Given the description of an element on the screen output the (x, y) to click on. 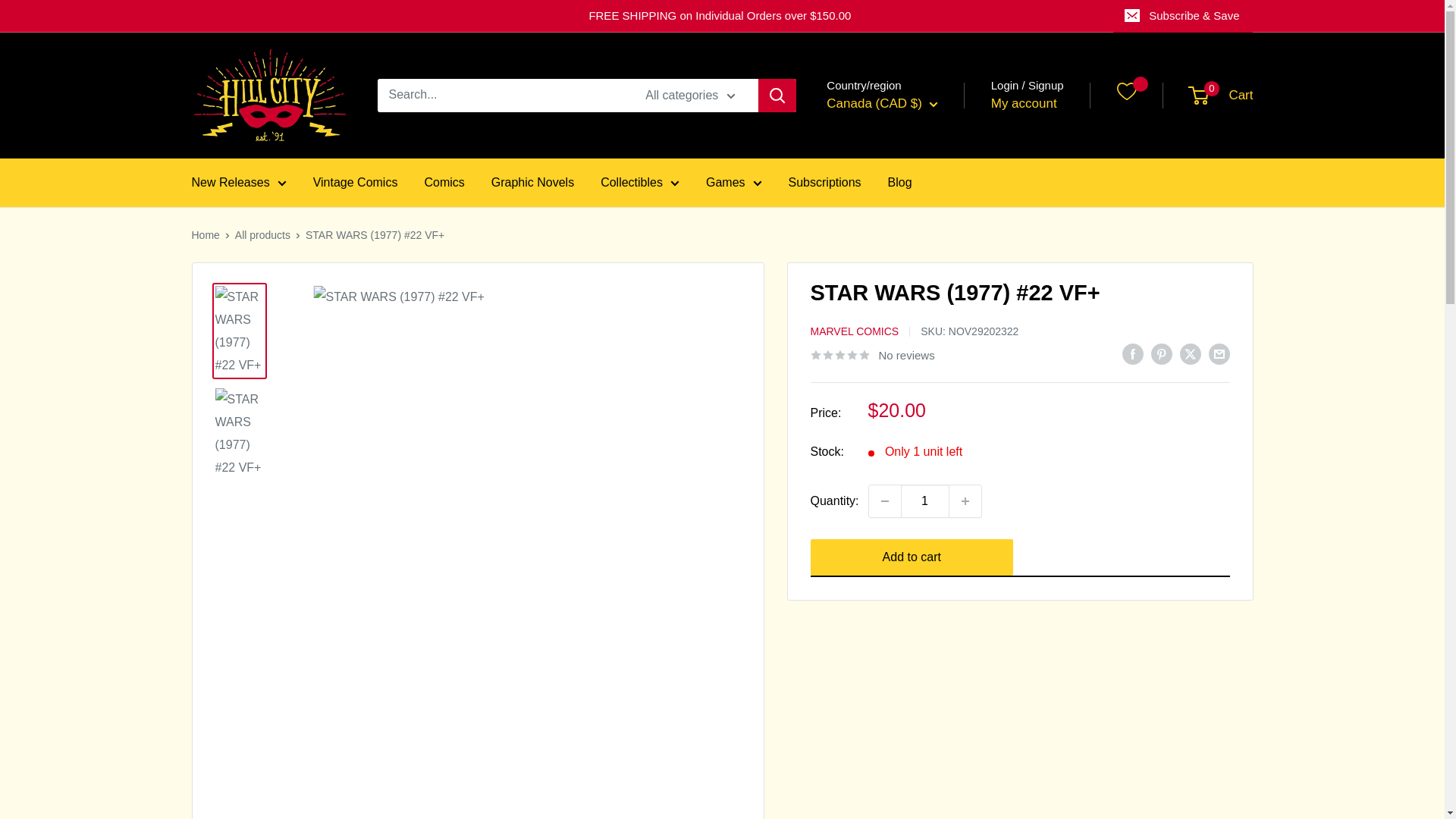
Decrease quantity by 1 (885, 500)
Hill City Comics (268, 95)
1 (925, 500)
Increase quantity by 1 (965, 500)
